Given the description of an element on the screen output the (x, y) to click on. 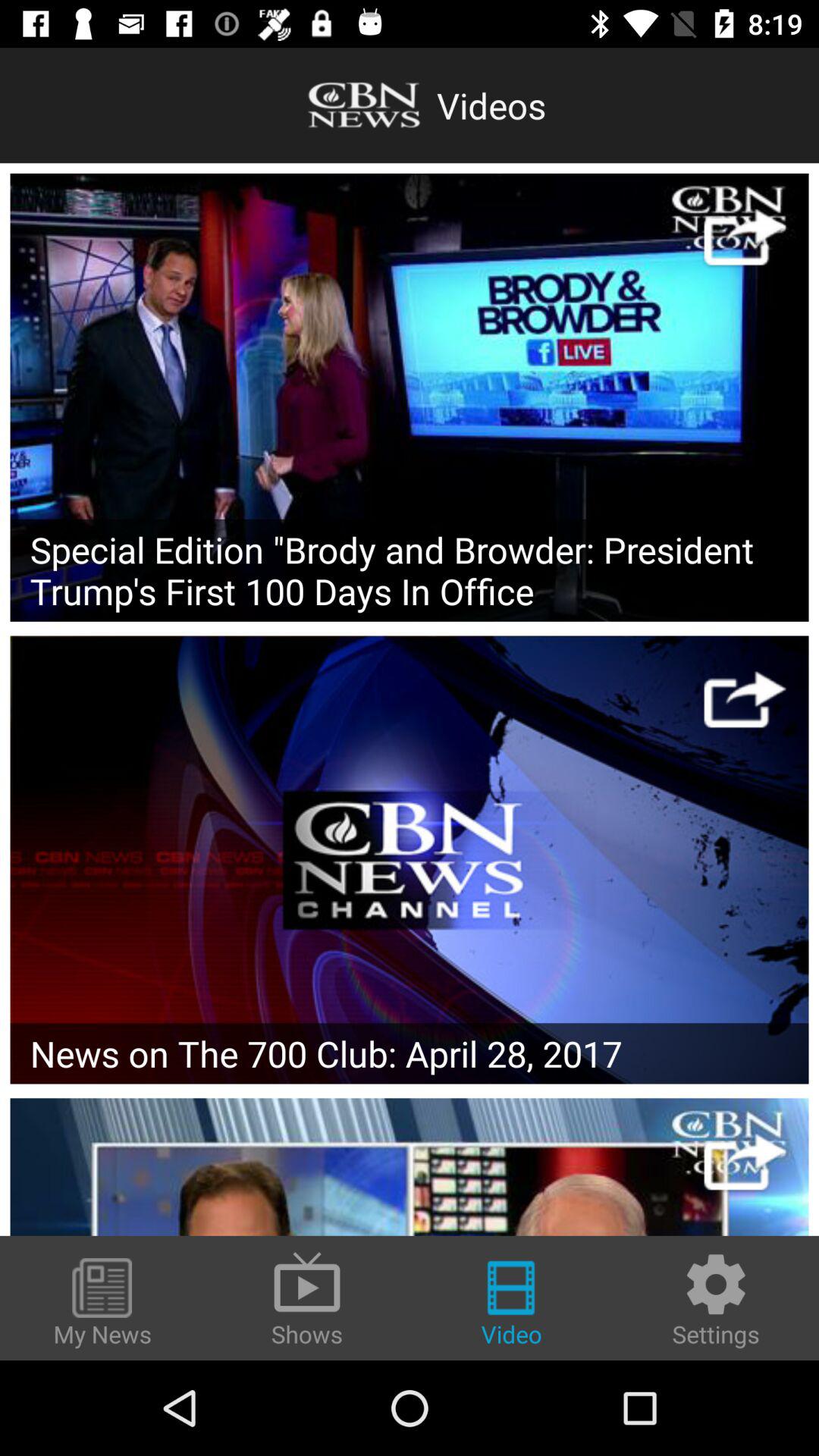
turn on the item to the right of the my news (306, 1298)
